Given the description of an element on the screen output the (x, y) to click on. 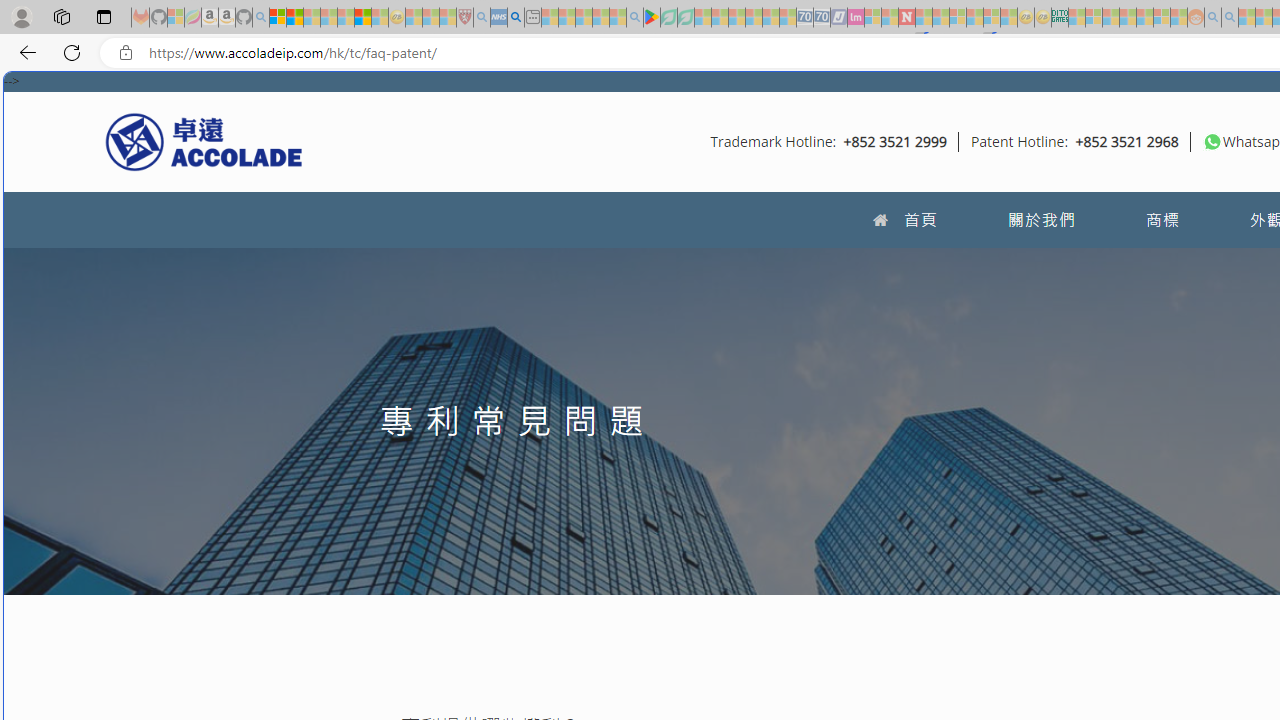
Microsoft-Report a Concern to Bing - Sleeping (175, 17)
New Report Confirms 2023 Was Record Hot | Watch - Sleeping (345, 17)
Latest Politics News & Archive | Newsweek.com - Sleeping (906, 17)
Accolade IP HK Logo (203, 141)
Local - MSN - Sleeping (447, 17)
list of asthma inhalers uk - Search - Sleeping (481, 17)
Microsoft Start - Sleeping (1247, 17)
Cheap Car Rentals - Save70.com - Sleeping (804, 17)
Jobs - lastminute.com Investor Portal - Sleeping (855, 17)
